Given the description of an element on the screen output the (x, y) to click on. 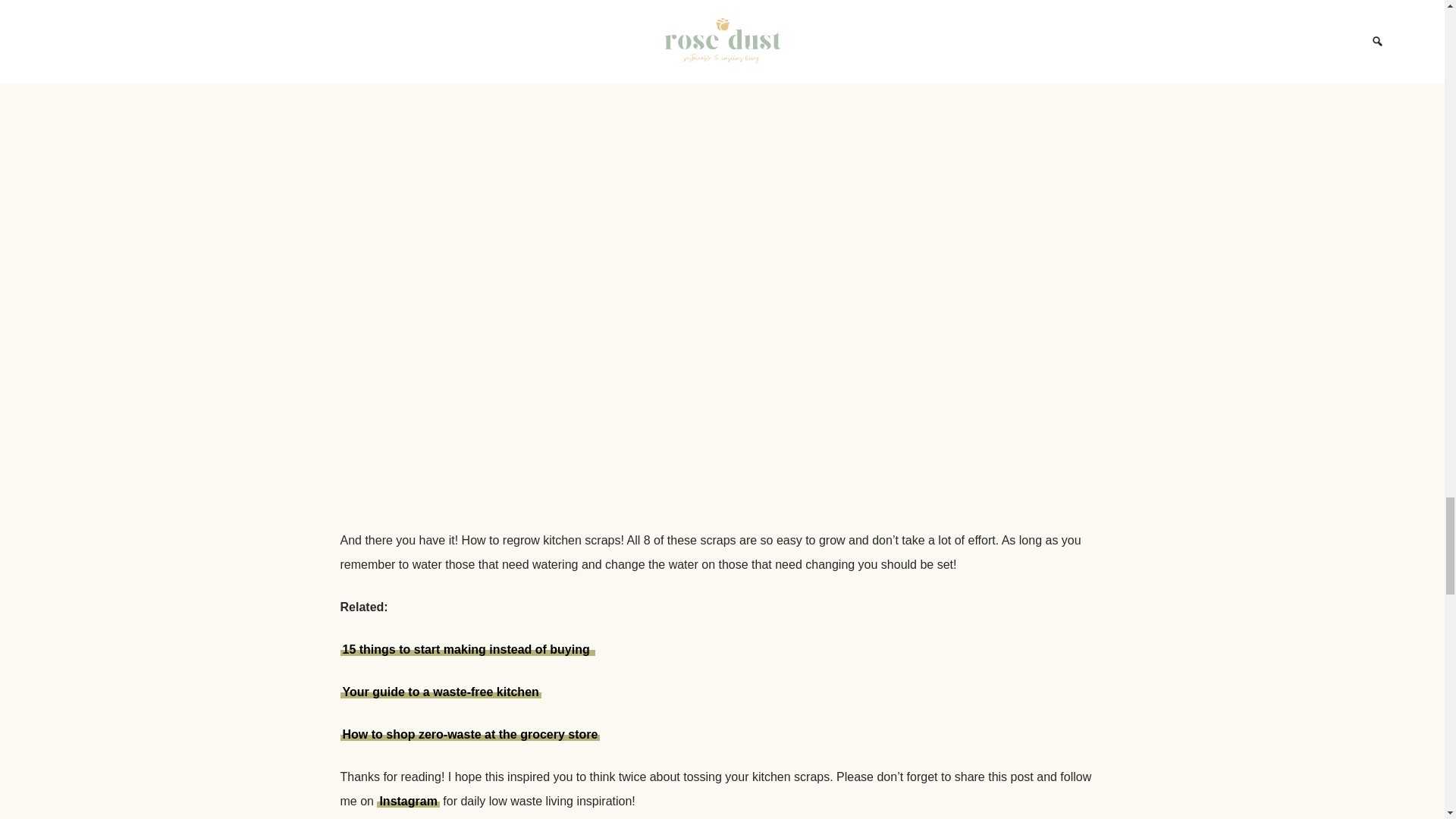
Zero Waste Series: Zero waste grocery shopping (469, 734)
15 things to start making instead of buying (467, 649)
How to shop zero-waste at the grocery store (469, 734)
Zero Waste series: How to have a zero waste kitchen (439, 691)
Instagram (408, 800)
Your guide to a waste-free kitchen (439, 691)
15 things to start making instead of buying  (467, 649)
